Given the description of an element on the screen output the (x, y) to click on. 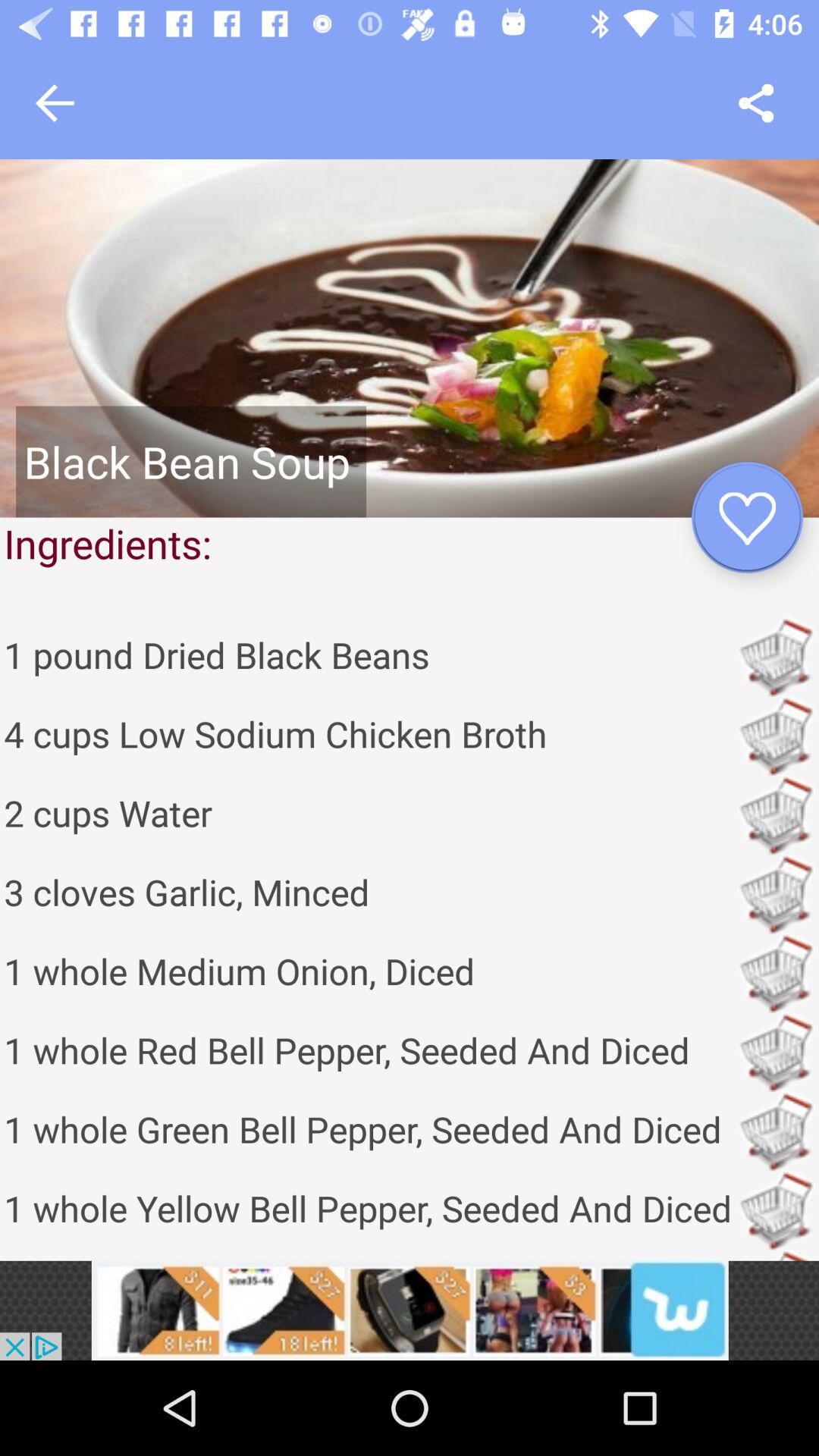
previous page (54, 103)
